Given the description of an element on the screen output the (x, y) to click on. 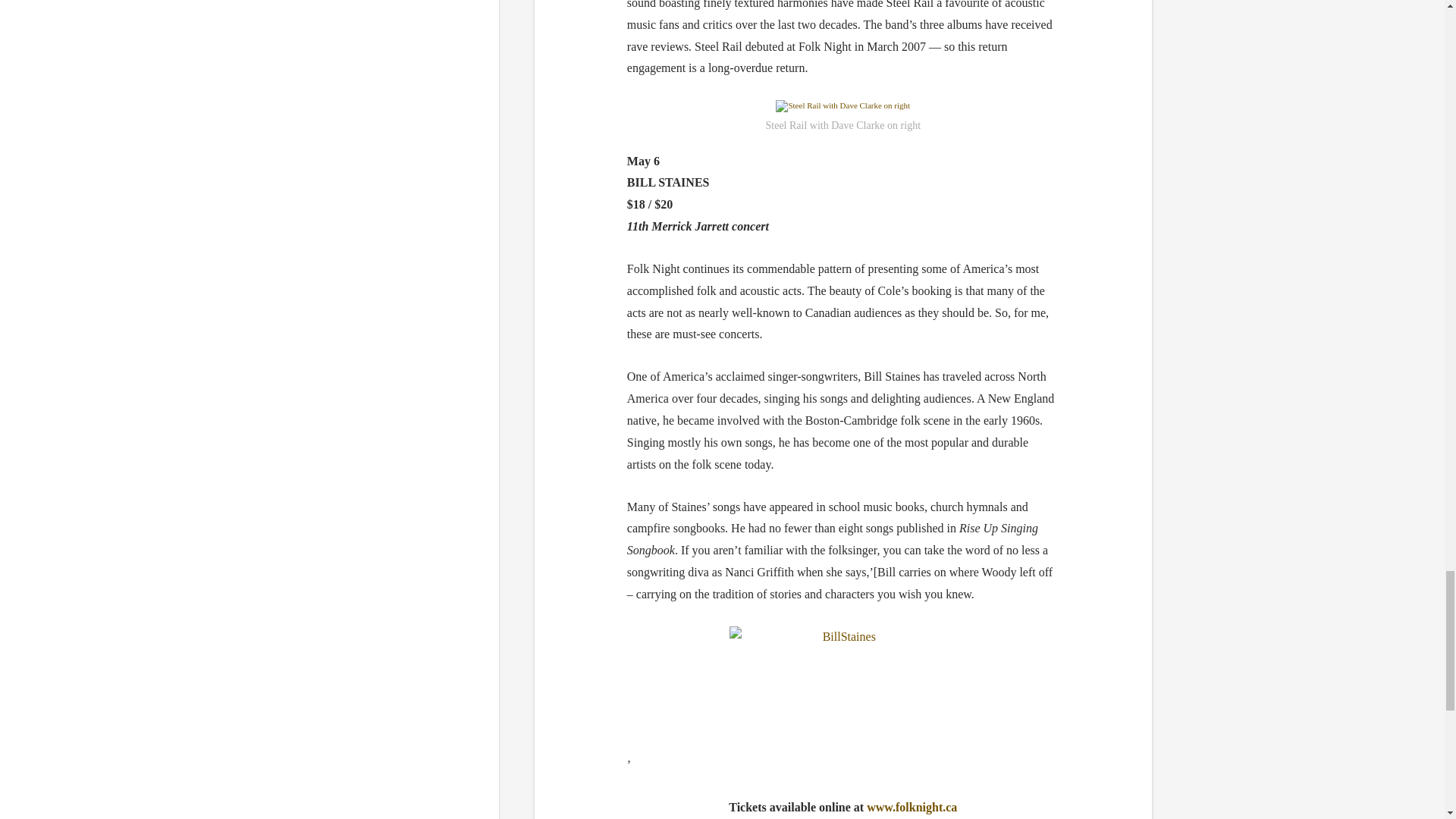
www.folknight.ca (911, 807)
